Given the description of an element on the screen output the (x, y) to click on. 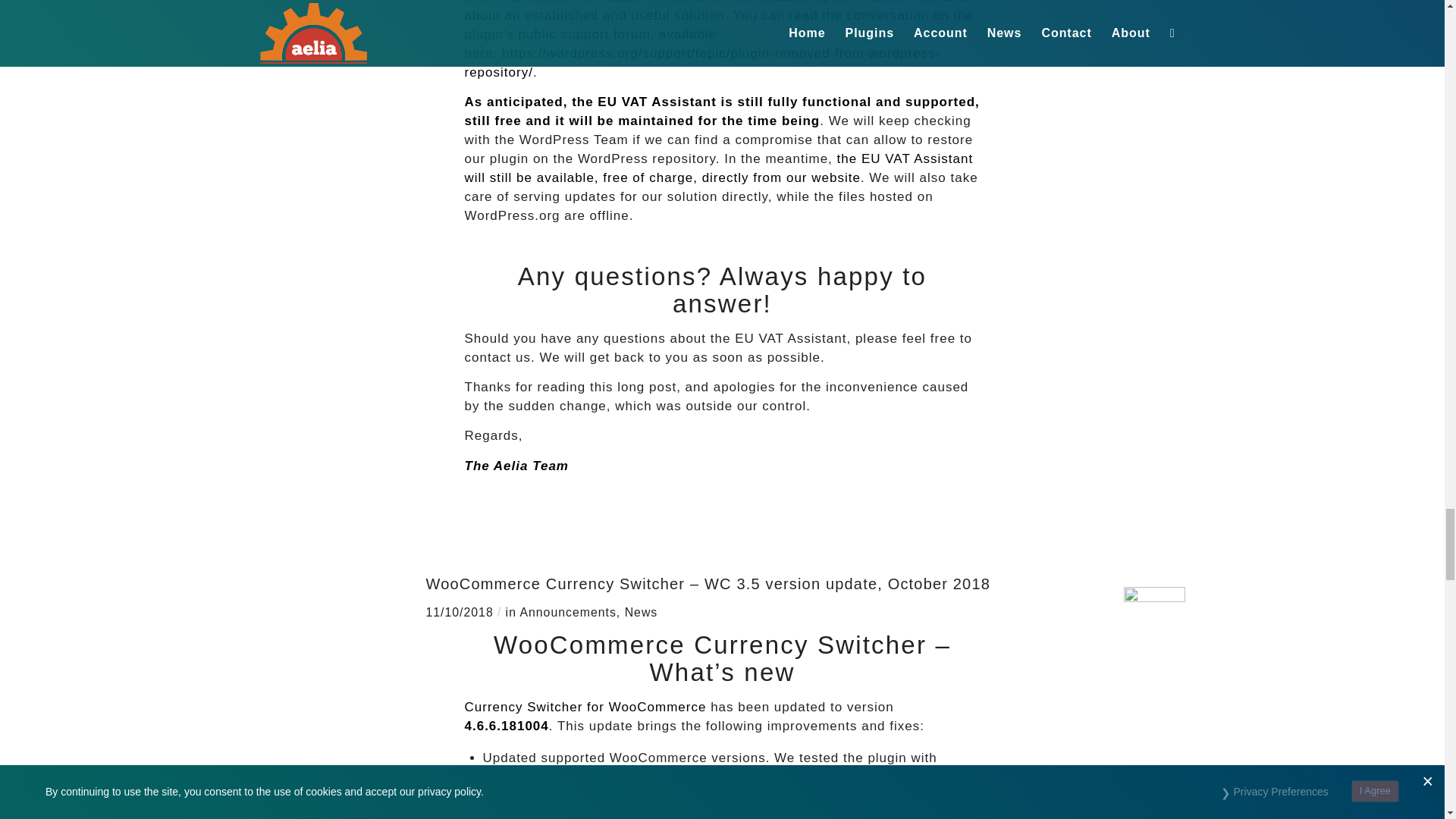
Currency Switcher for WooCommerce (585, 707)
